Given the description of an element on the screen output the (x, y) to click on. 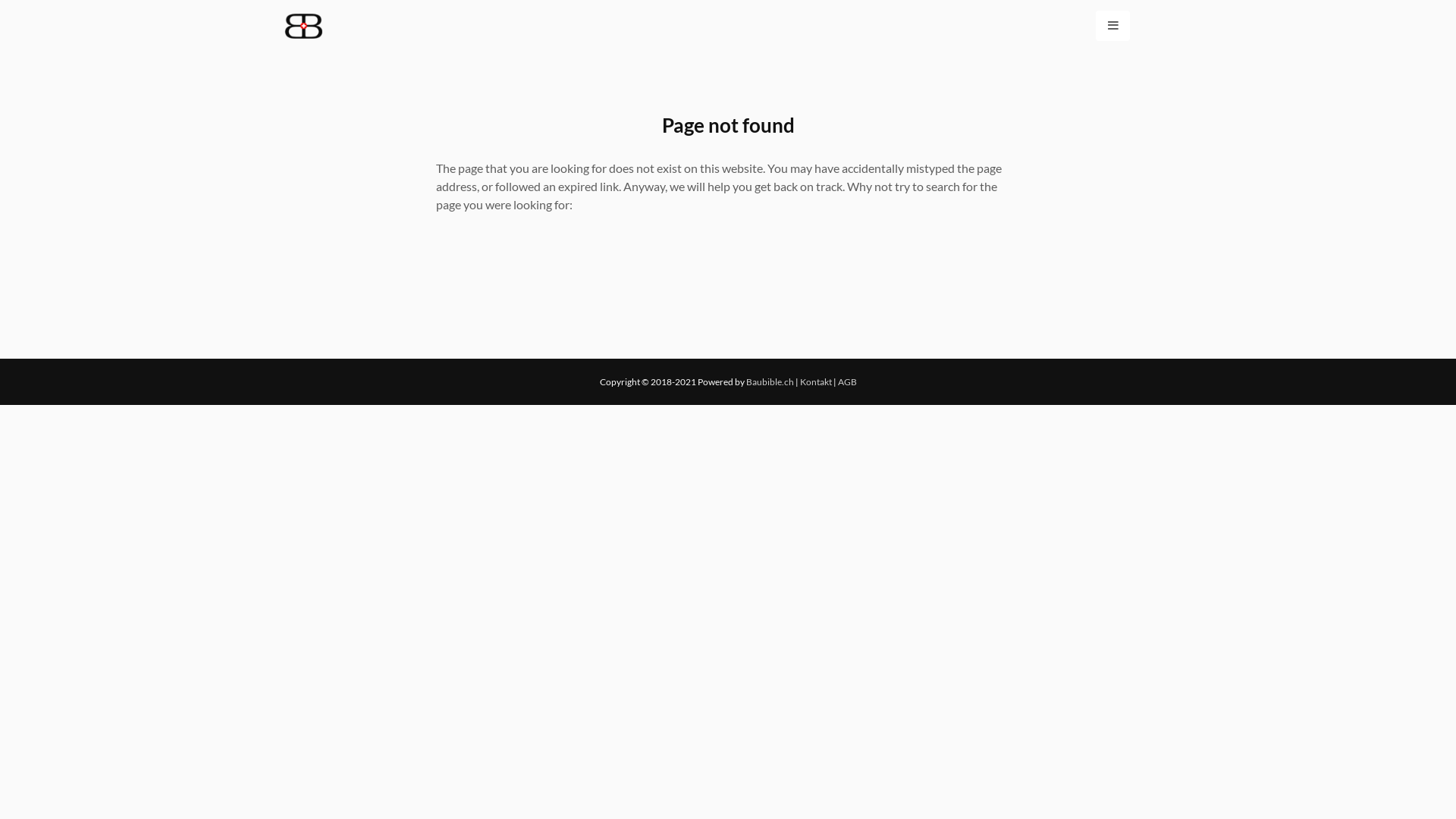
Baubible.ch Element type: text (769, 381)
Kontakt Element type: text (815, 381)
AGB Element type: text (846, 381)
